Given the description of an element on the screen output the (x, y) to click on. 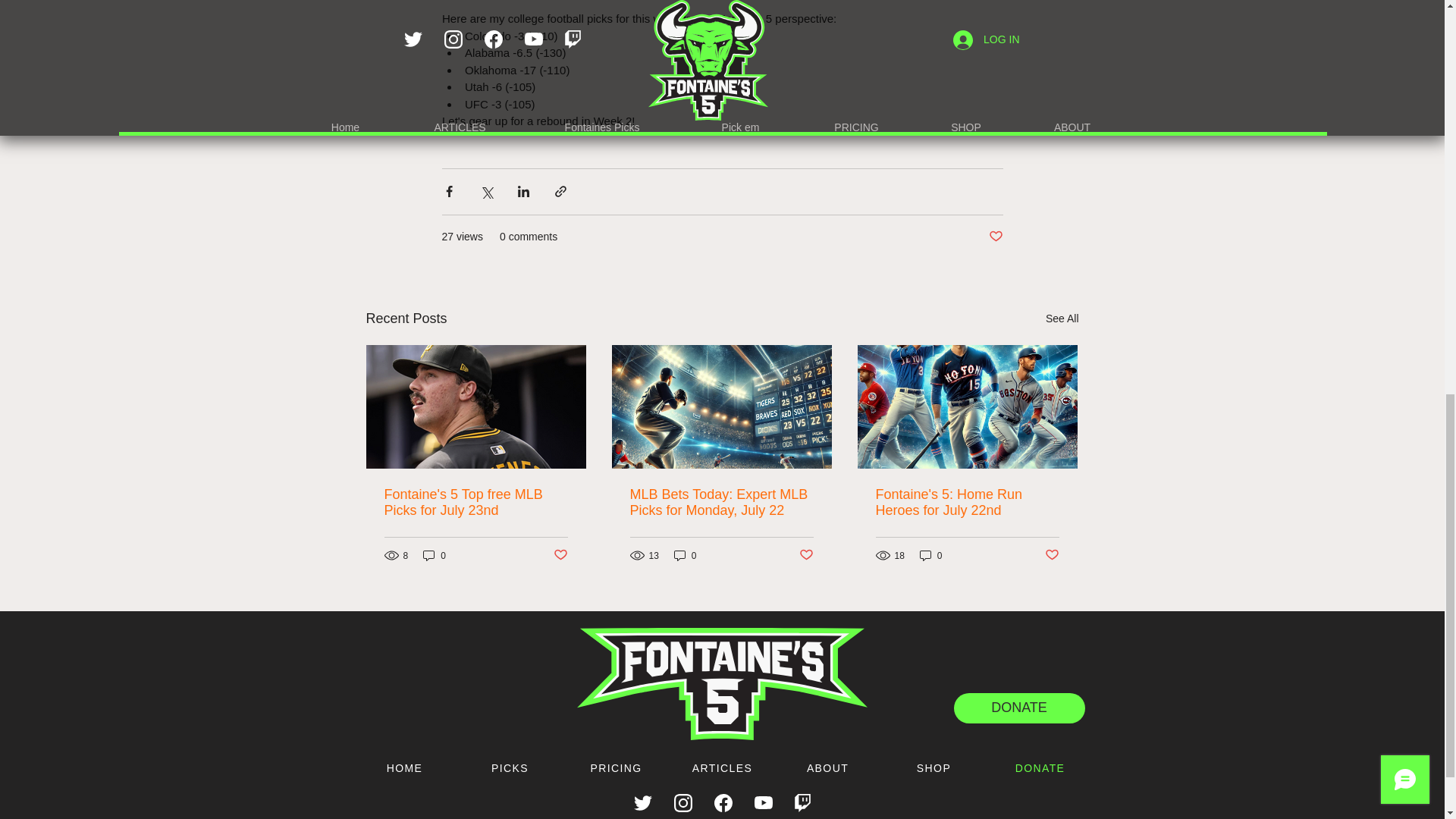
0 (685, 554)
MLB Bets Today: Expert MLB Picks for Monday, July 22 (720, 502)
Post not marked as liked (995, 236)
0 (434, 554)
Fontaine's 5 Top free MLB Picks for July 23nd (475, 502)
Post not marked as liked (560, 555)
See All (1061, 318)
Post not marked as liked (806, 555)
